Given the description of an element on the screen output the (x, y) to click on. 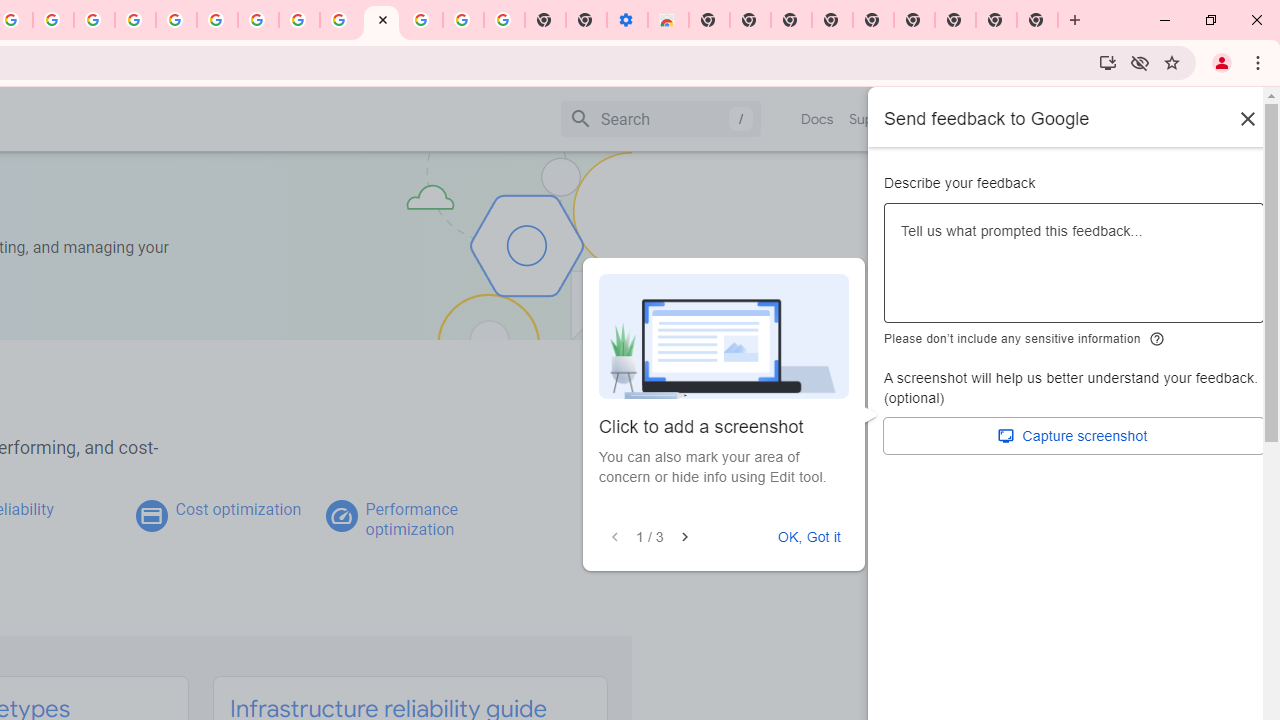
Chrome Web Store - Accessibility extensions (667, 20)
Support (874, 119)
Previous (615, 537)
Capture screenshot (1074, 436)
Settings - Accessibility (626, 20)
Performance optimization (411, 519)
New Tab (708, 20)
Previous (614, 537)
Describe your feedback (1074, 271)
New Tab (1037, 20)
Start free (1191, 118)
Next (684, 537)
